Given the description of an element on the screen output the (x, y) to click on. 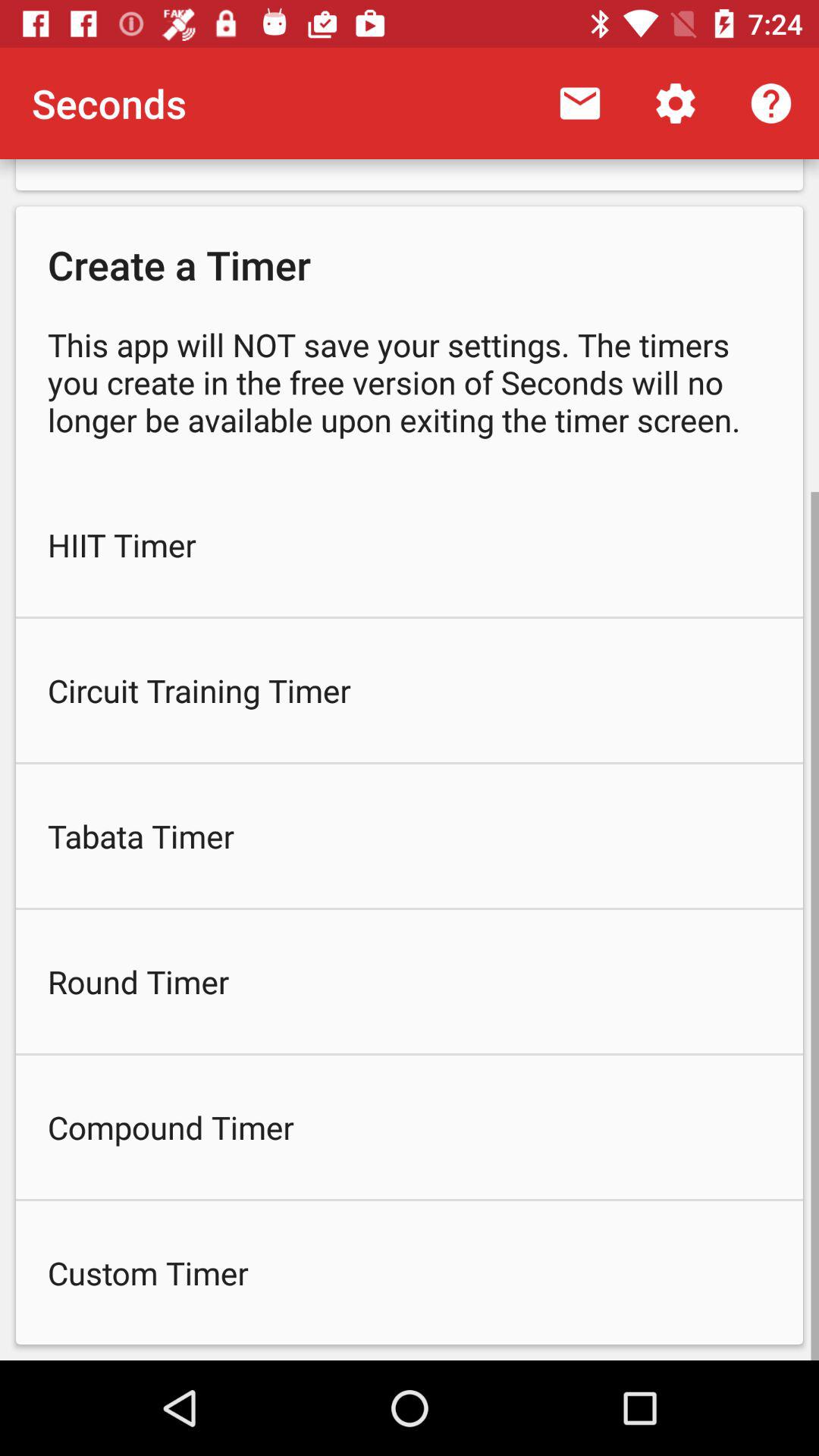
click item to the right of seconds icon (579, 103)
